Given the description of an element on the screen output the (x, y) to click on. 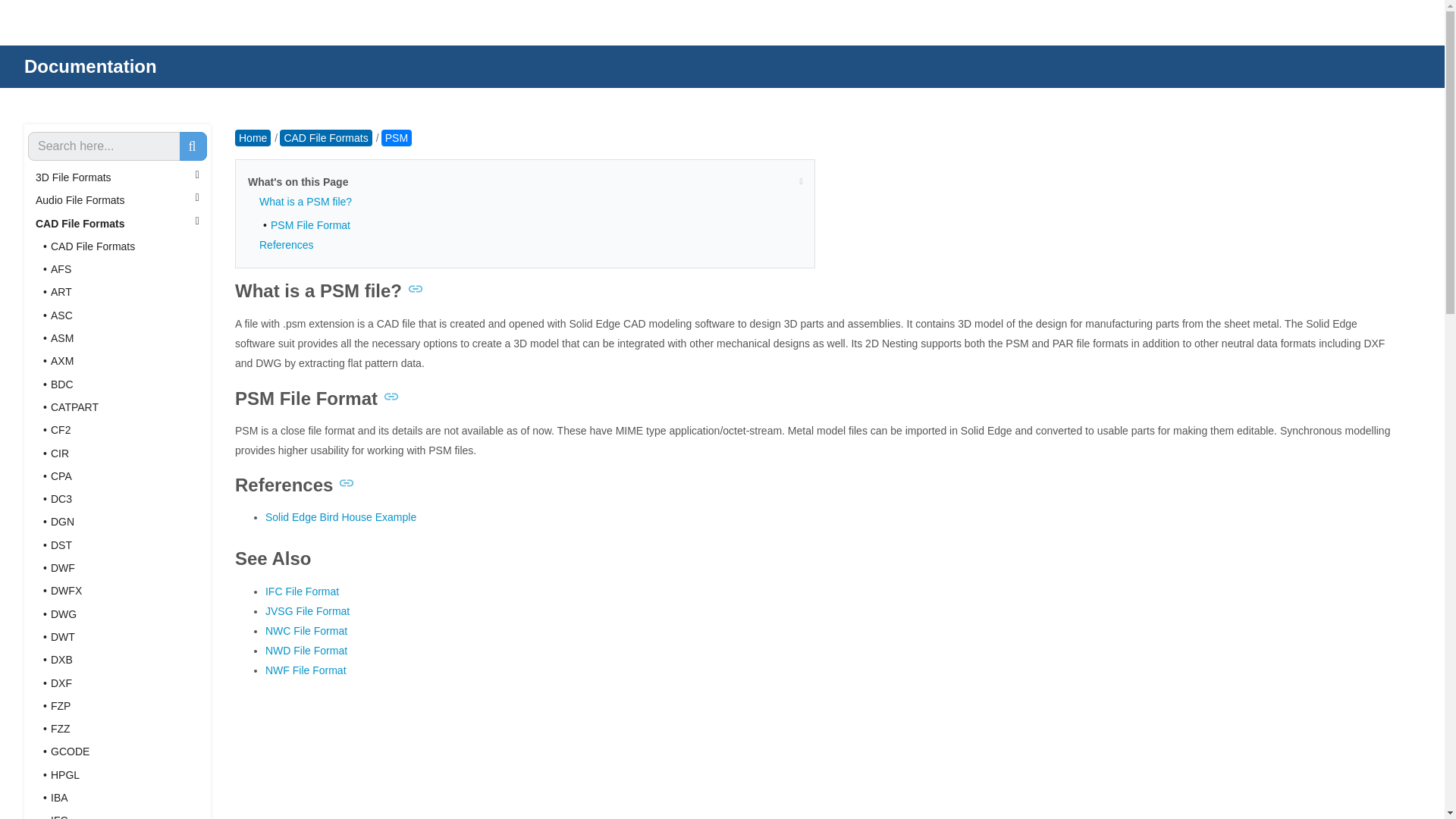
3D File Formats (117, 177)
Documentation (90, 66)
